Given the description of an element on the screen output the (x, y) to click on. 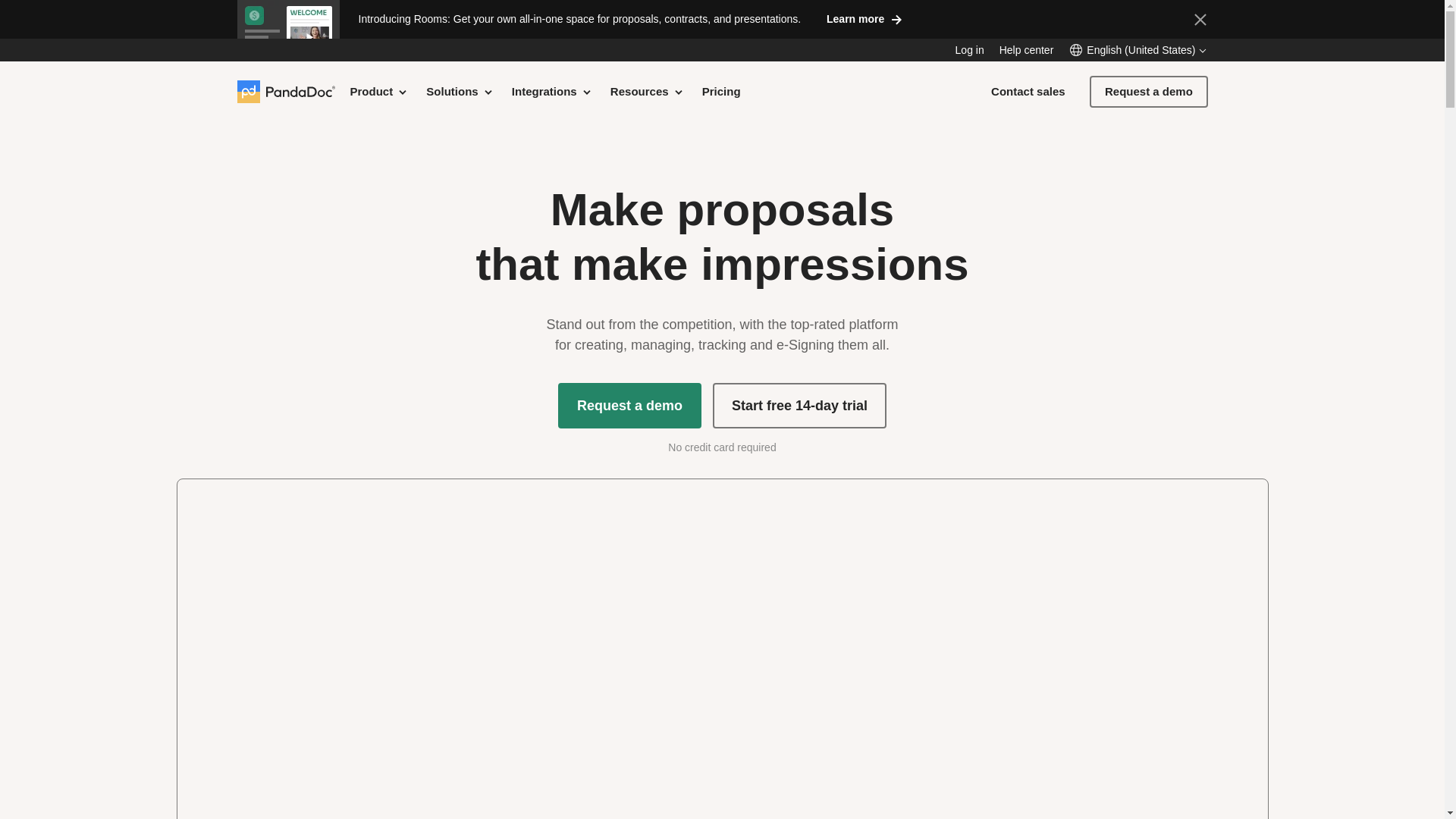
Help center (1026, 50)
Product (379, 91)
Solutions (459, 91)
Log in (969, 50)
Learn more (864, 18)
